Given the description of an element on the screen output the (x, y) to click on. 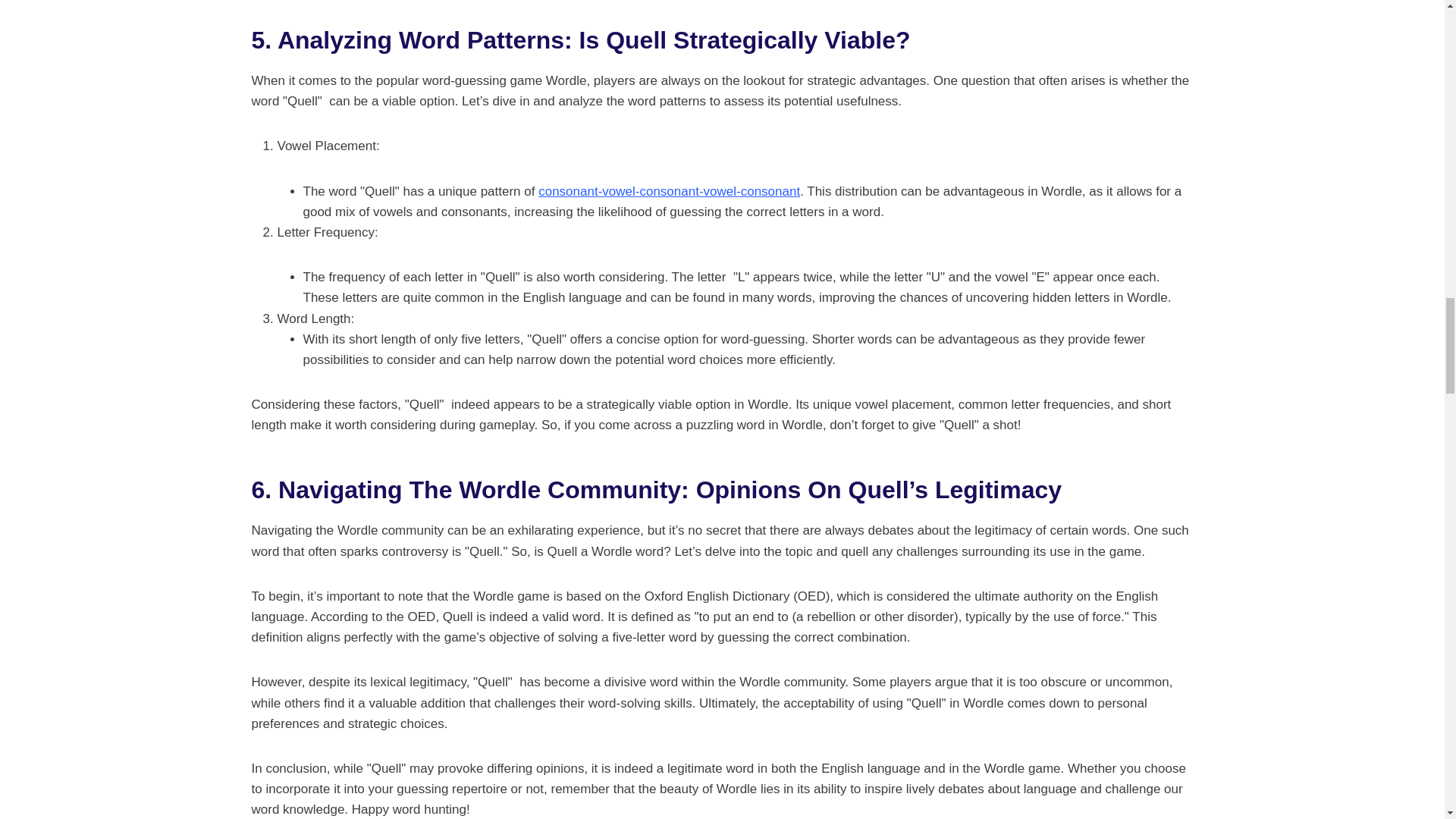
Polygonal Wordle Wonders: Unravel the Polygonal Wordle (668, 191)
consonant-vowel-consonant-vowel-consonant (668, 191)
